Given the description of an element on the screen output the (x, y) to click on. 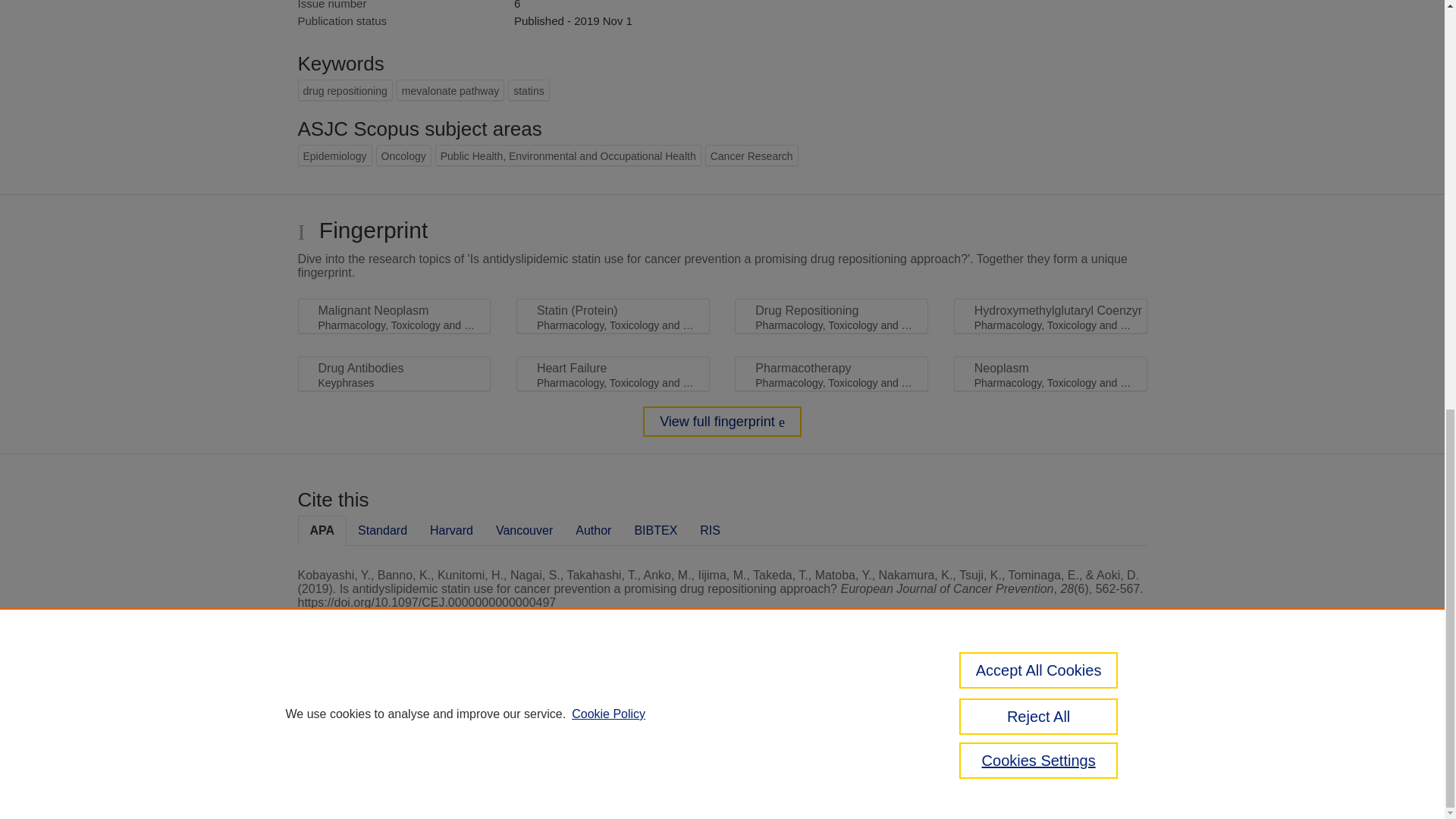
View full fingerprint (722, 421)
Pure (362, 708)
Elsevier B.V. (506, 728)
use of cookies (796, 760)
Scopus (394, 708)
